Given the description of an element on the screen output the (x, y) to click on. 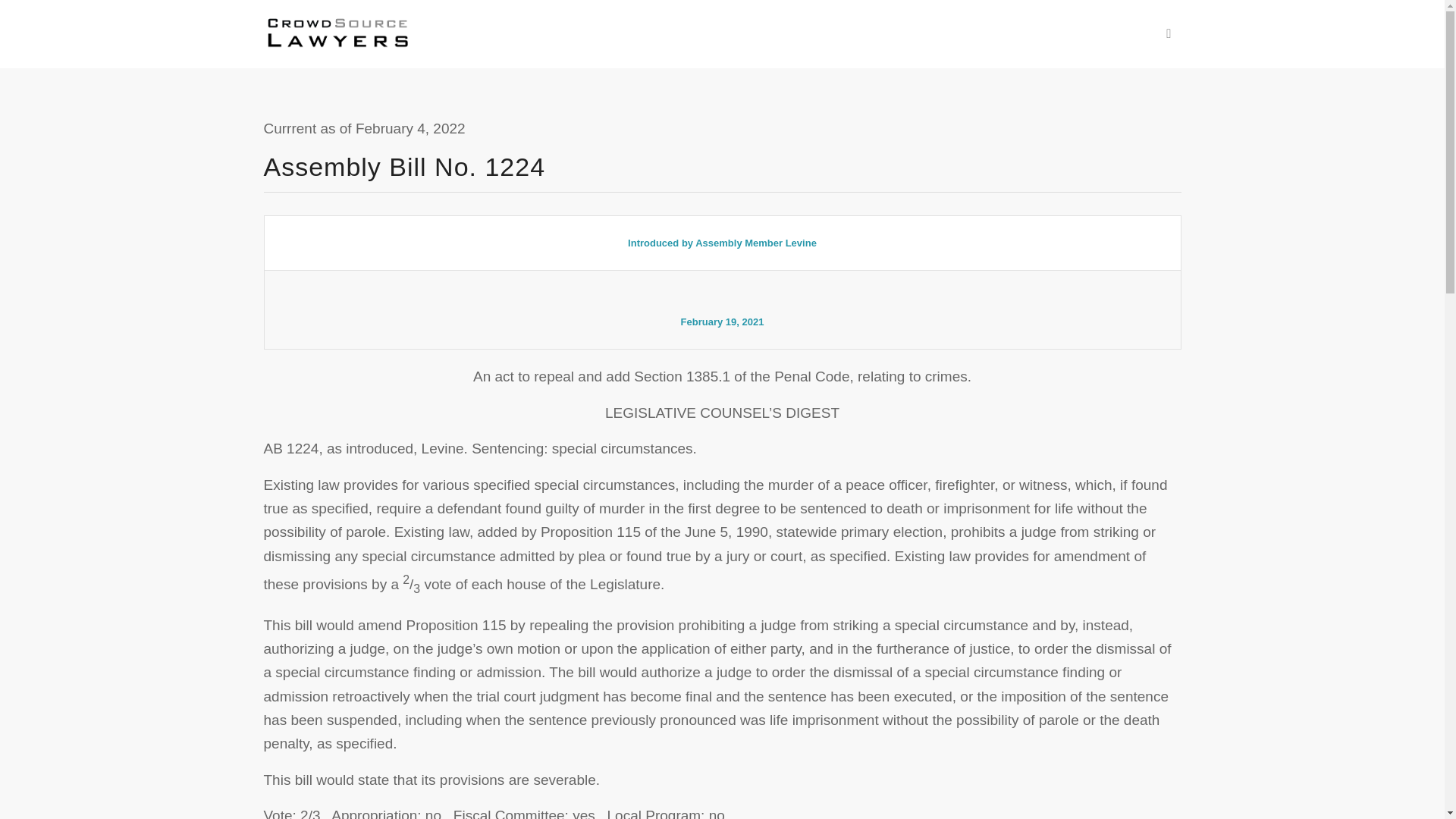
CrowdSource Logo Webp (337, 33)
